Given the description of an element on the screen output the (x, y) to click on. 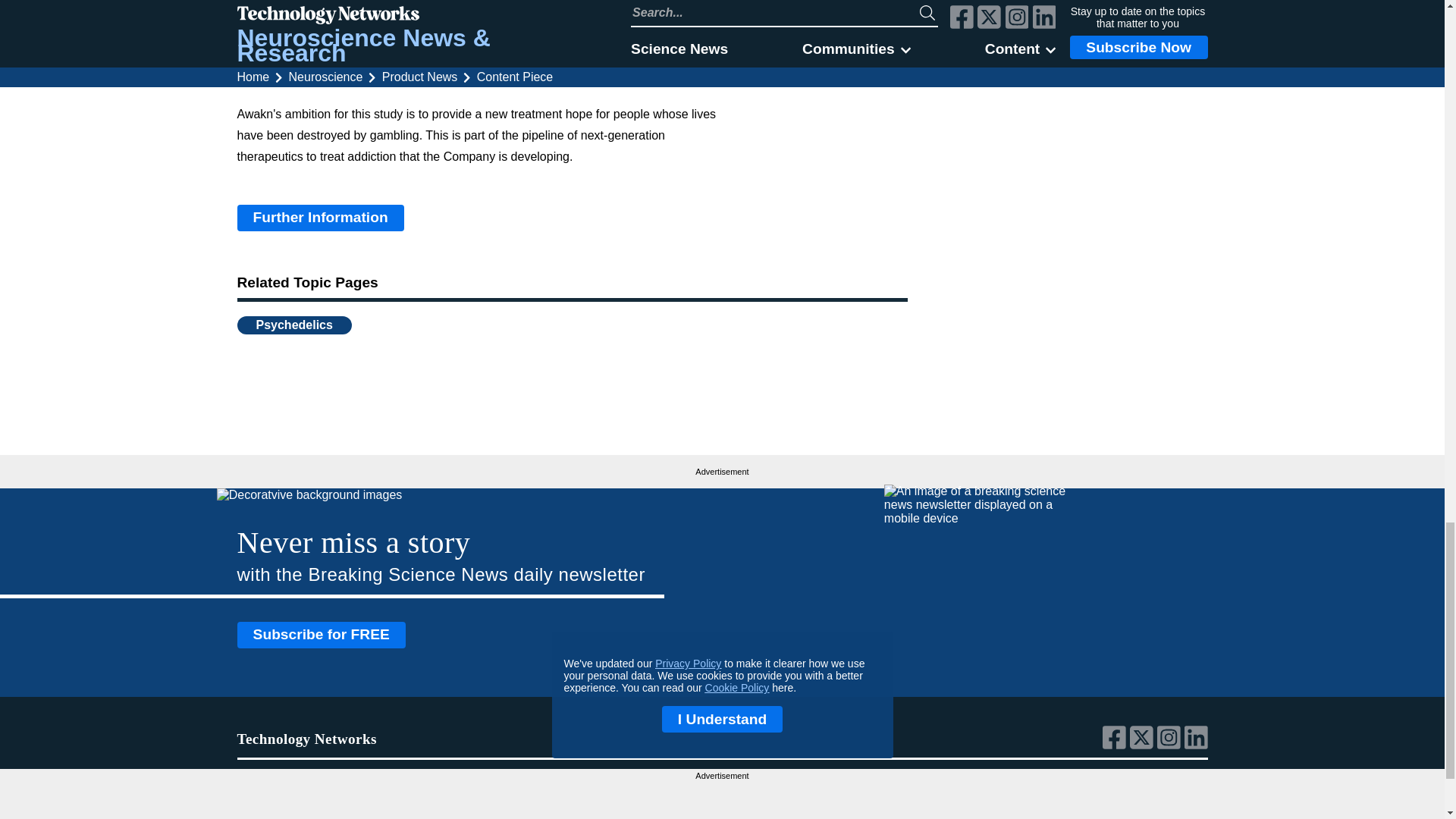
Link to Technology Networks' instagram page (1171, 745)
Link to Technology Networks' linkedin page (1196, 745)
Link to Technology Networks' facebook page (1115, 745)
Link to Technology Networks' twitter page (1143, 745)
